Given the description of an element on the screen output the (x, y) to click on. 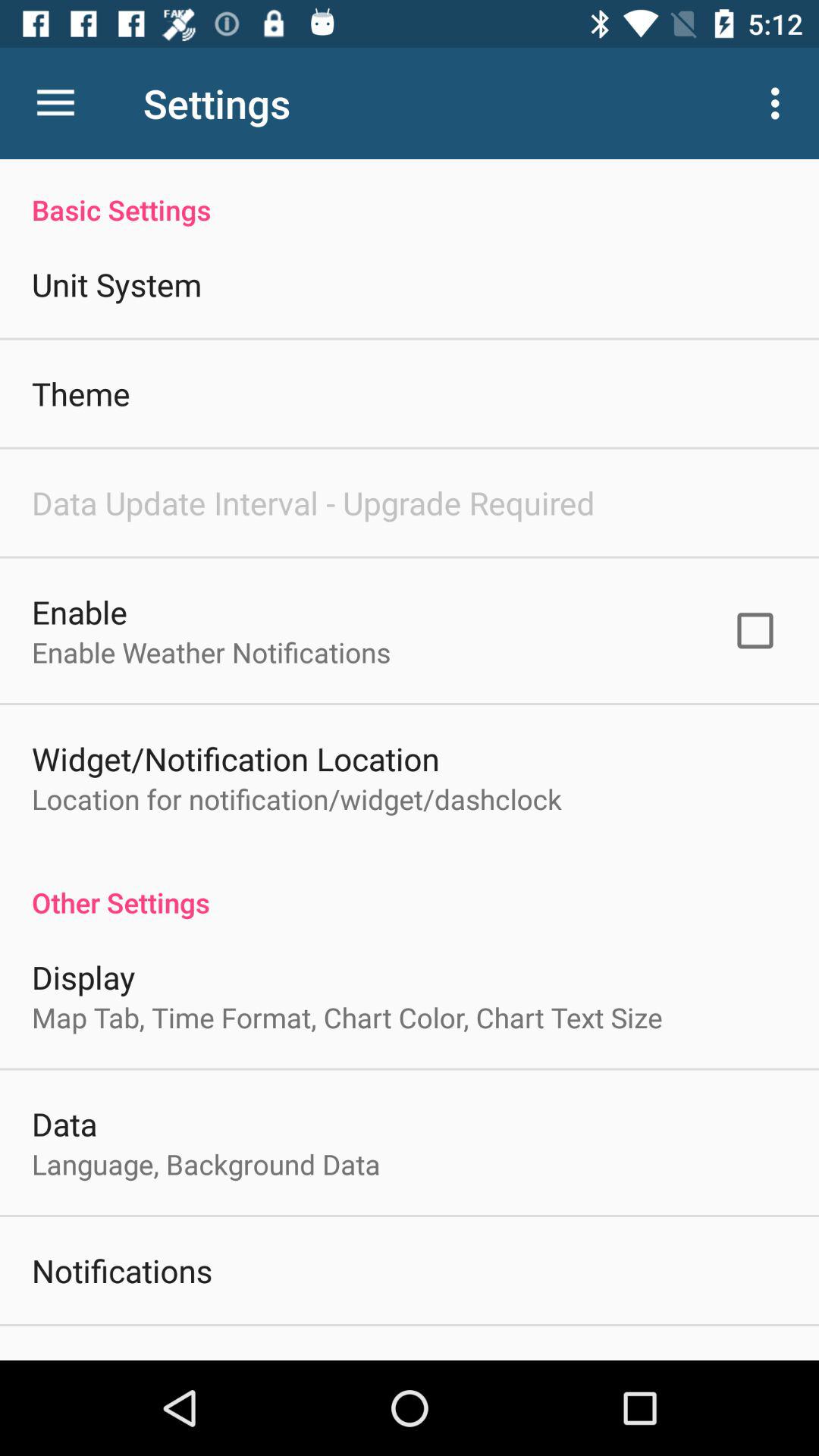
select the item next to settings item (55, 103)
